Given the description of an element on the screen output the (x, y) to click on. 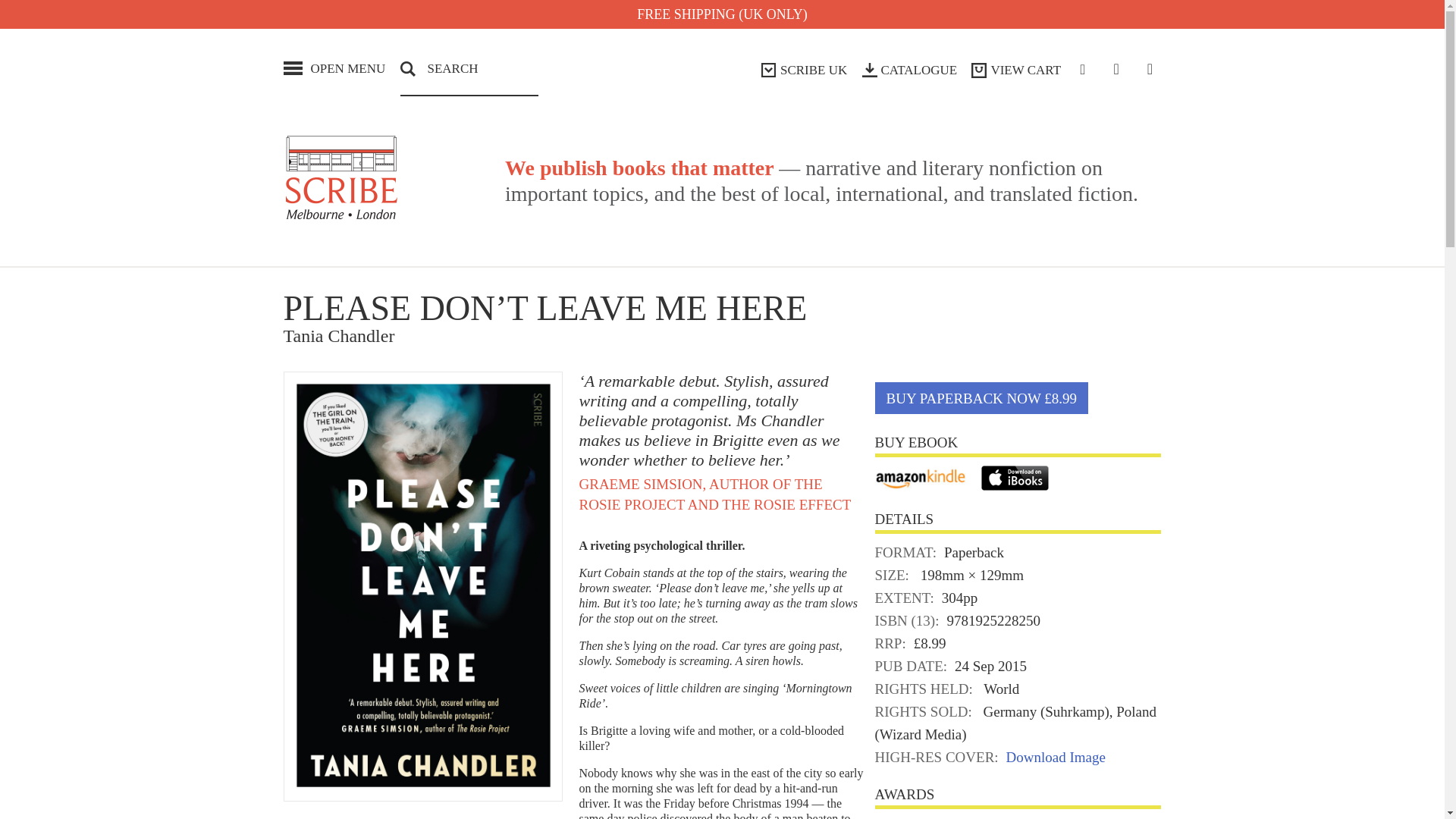
OPEN MENU (334, 67)
Twitter (1116, 68)
Download Image (1055, 756)
CATALOGUE (909, 69)
SCRIBE UK (804, 69)
VIEW CART (1017, 69)
Instagram (1149, 68)
search (22, 11)
Scribe (340, 177)
Facebook (1082, 70)
